Given the description of an element on the screen output the (x, y) to click on. 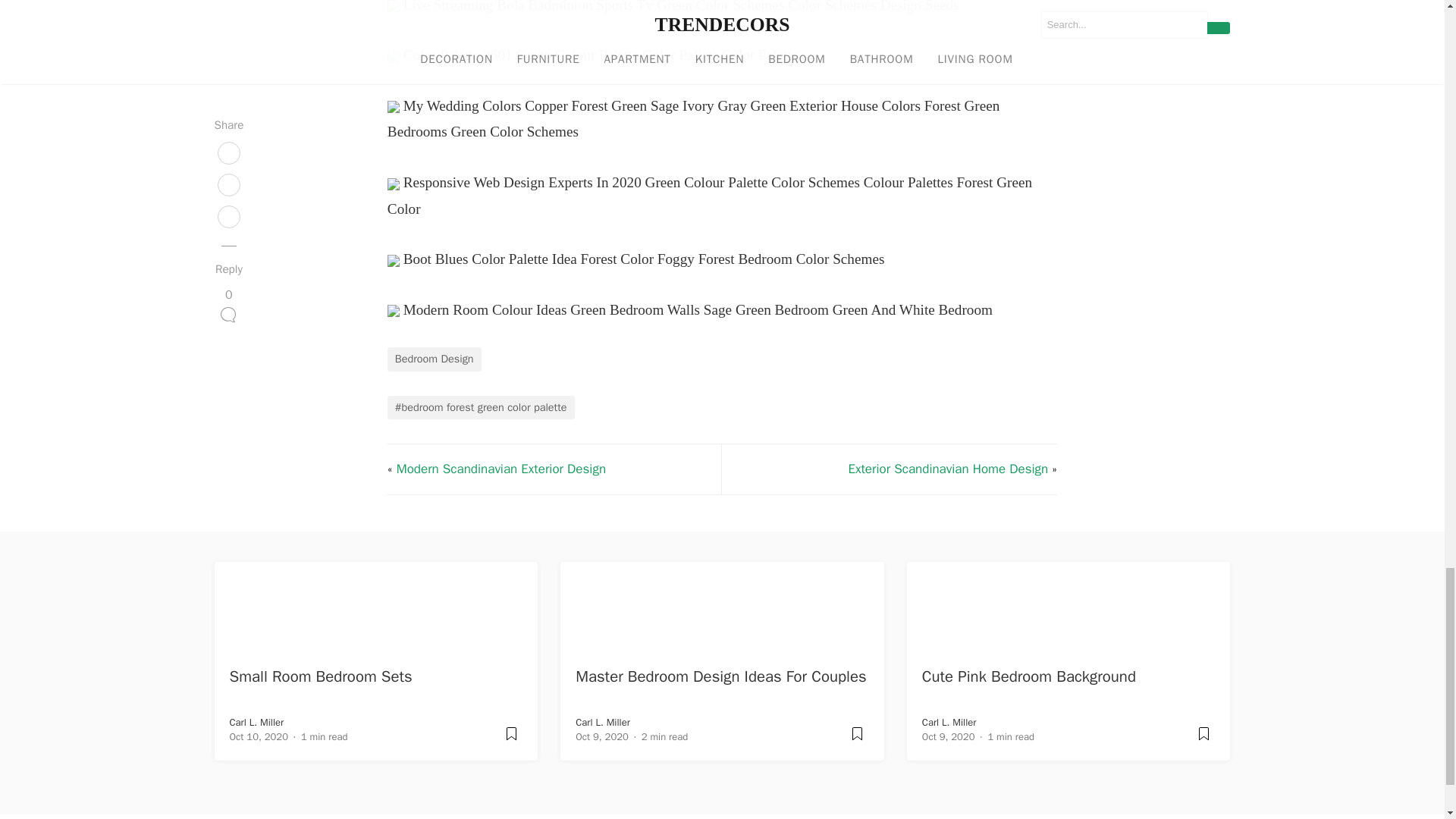
Exterior Scandinavian Home Design (947, 468)
Modern Scandinavian Exterior Design (500, 468)
Bedroom Design (434, 359)
Small Room Bedroom Sets (321, 676)
